Given the description of an element on the screen output the (x, y) to click on. 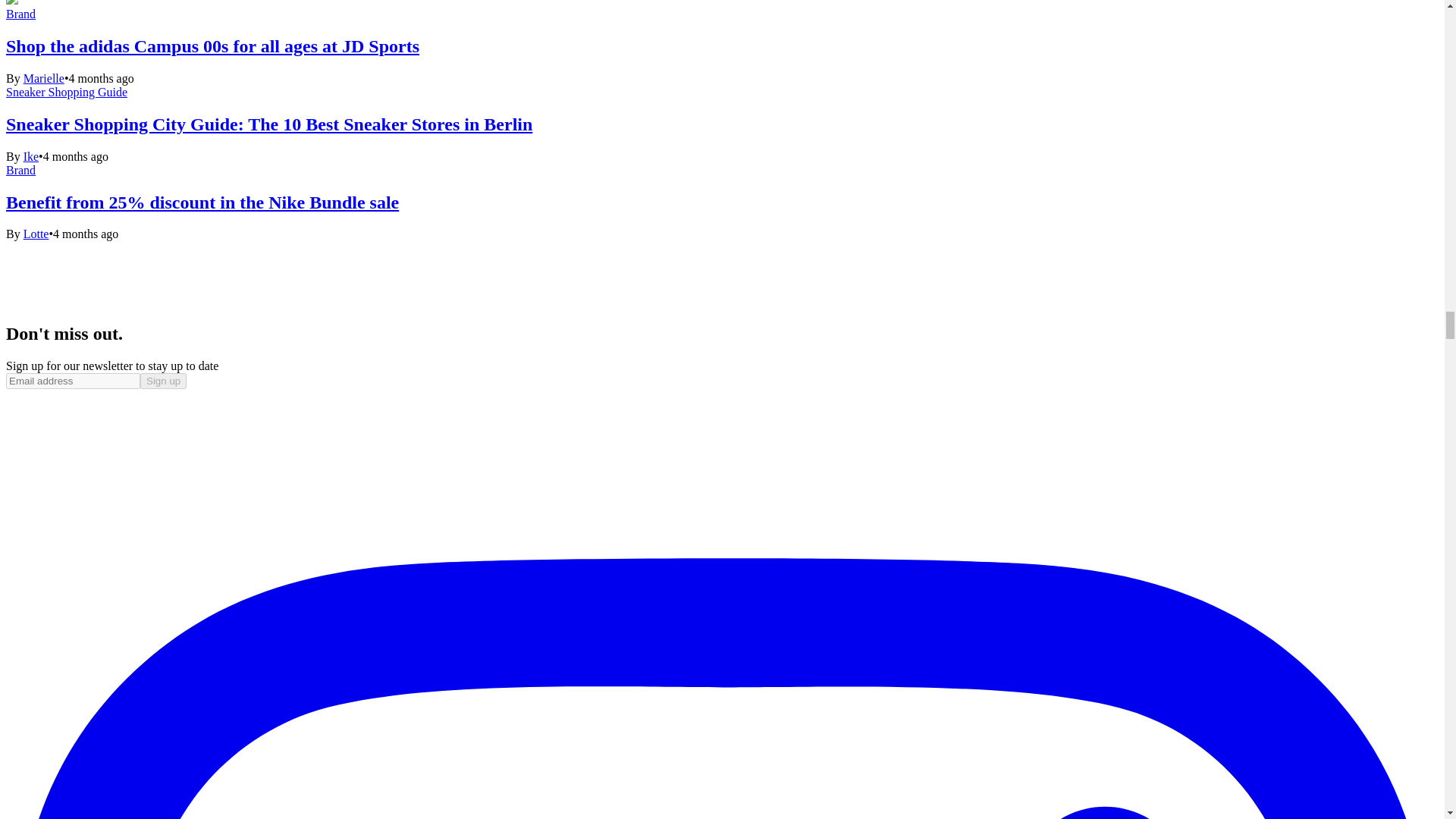
Brand (19, 13)
Marielle (43, 78)
